Given the description of an element on the screen output the (x, y) to click on. 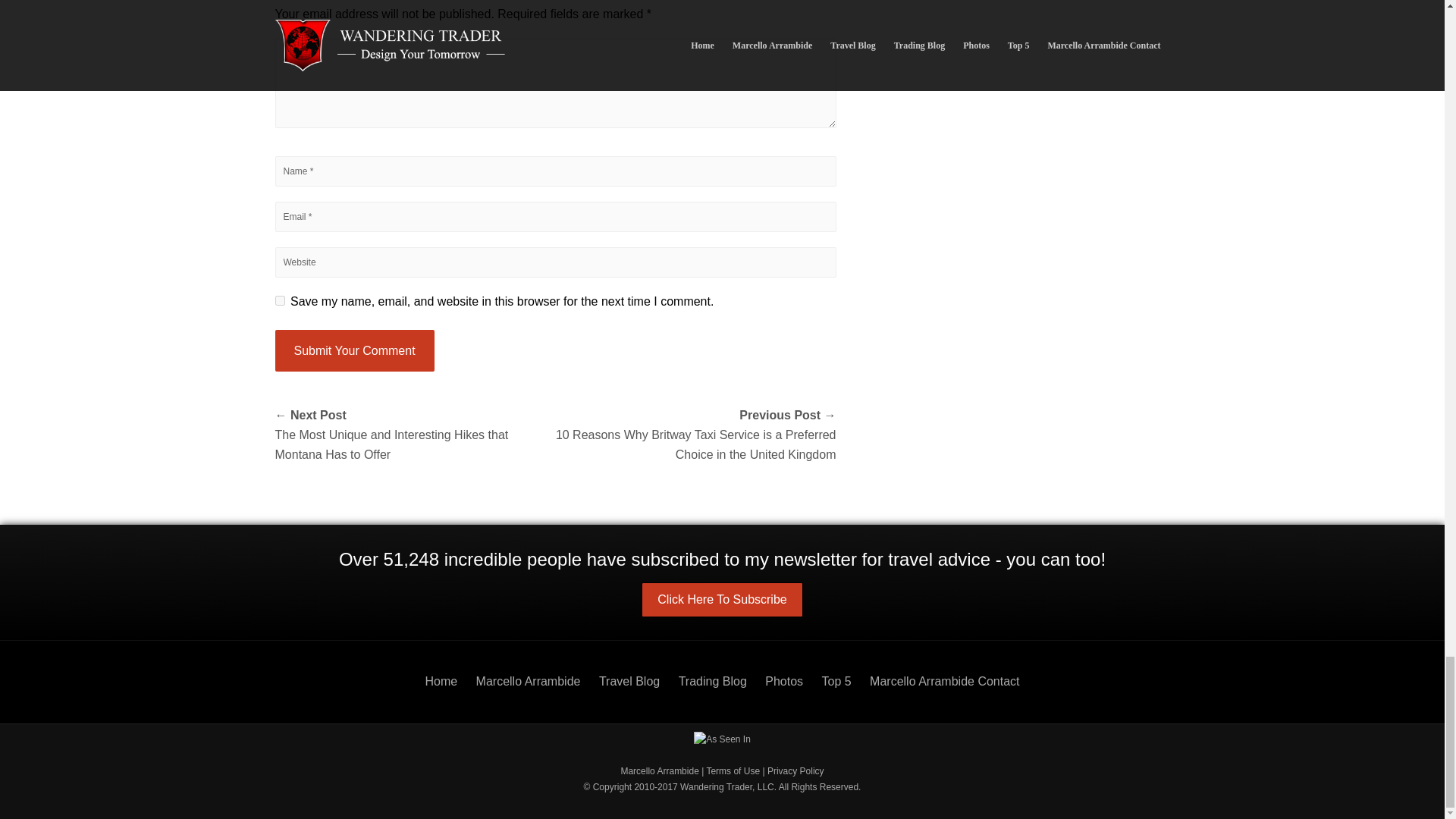
Submit Your Comment (354, 351)
Submit Your Comment (354, 351)
yes (279, 300)
